Given the description of an element on the screen output the (x, y) to click on. 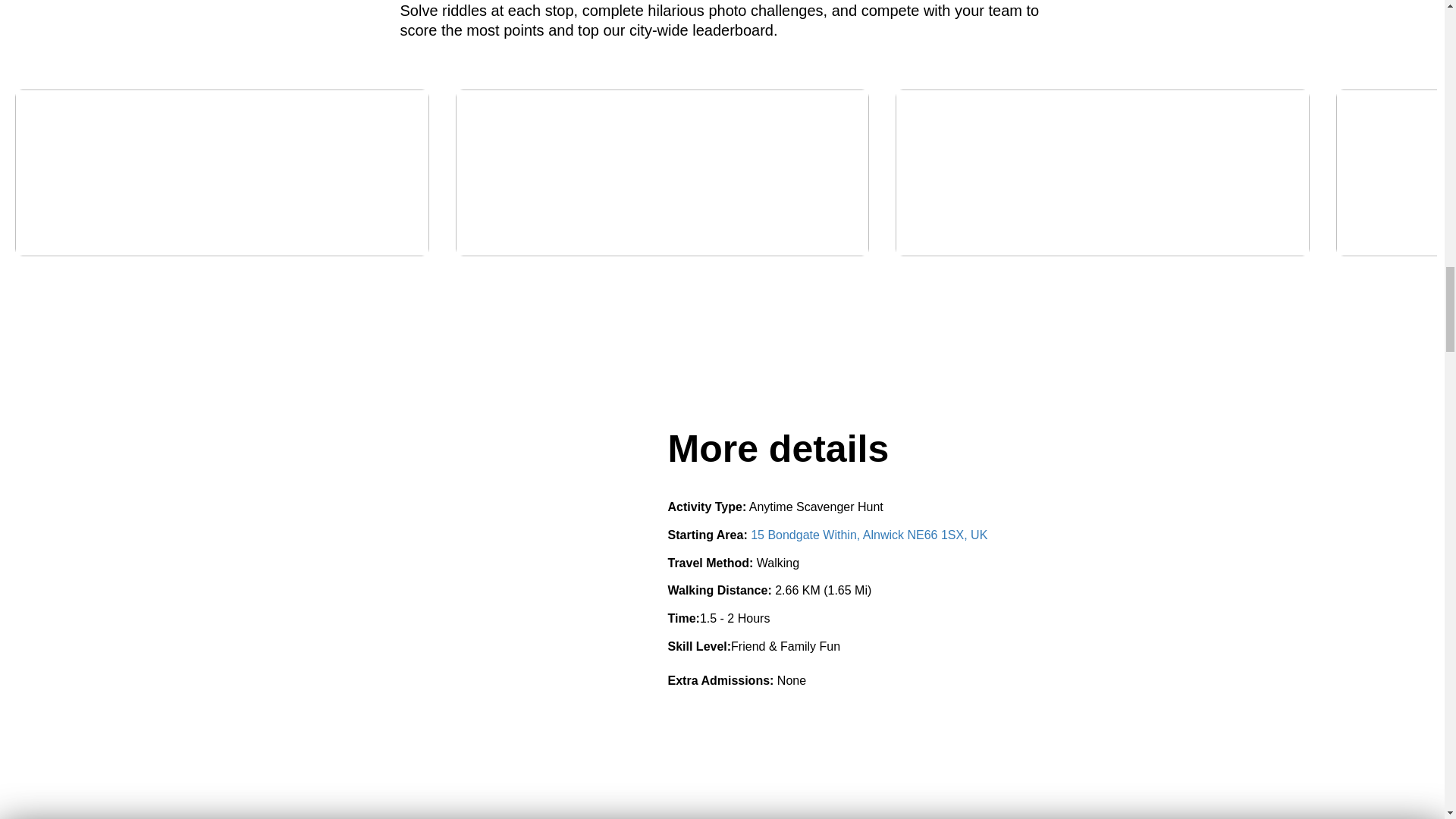
15 Bondgate Within, Alnwick NE66 1SX, UK (869, 534)
Get Directions To This Scavenger Hunt (869, 534)
